Given the description of an element on the screen output the (x, y) to click on. 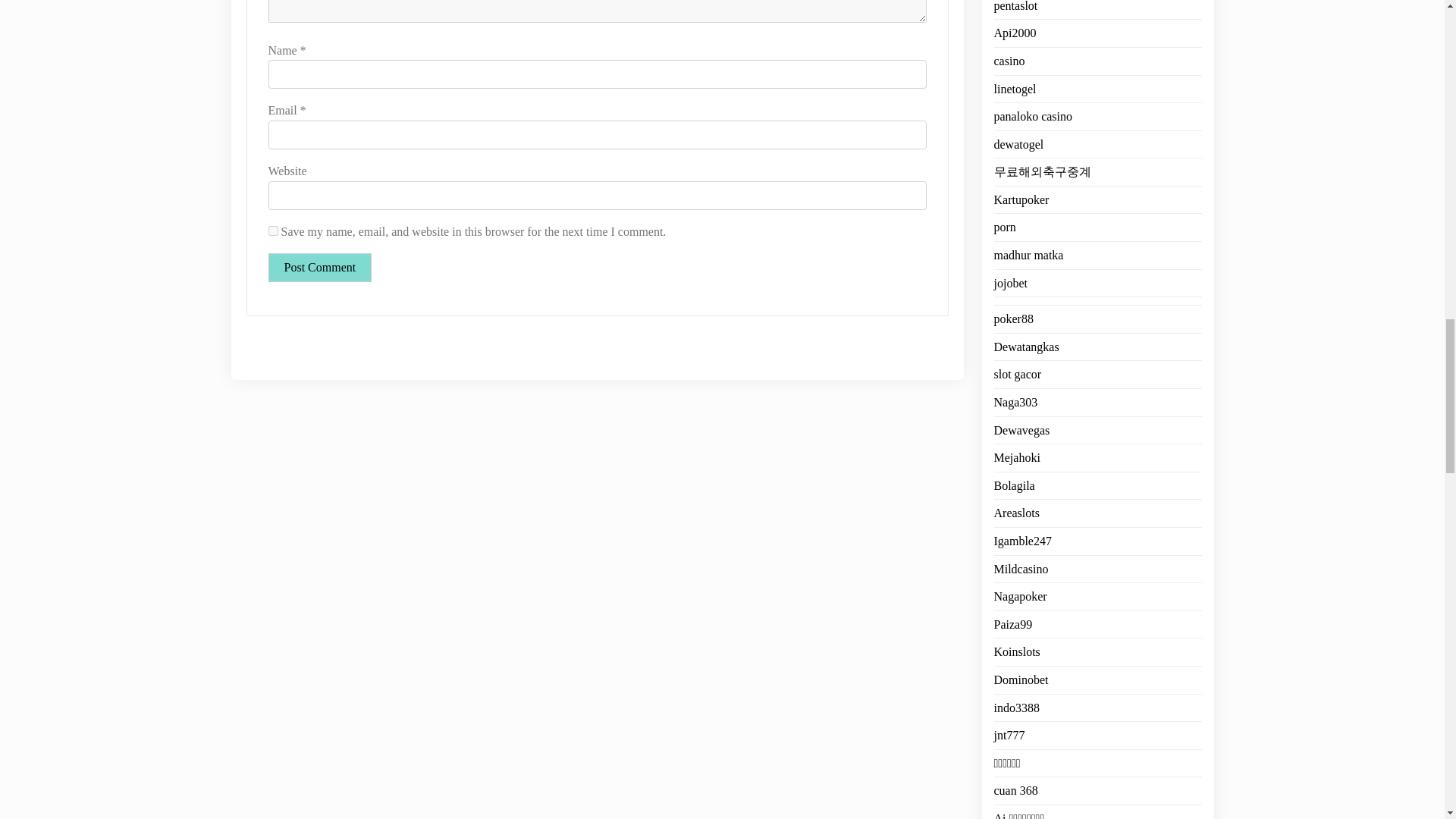
yes (272, 230)
Post Comment (319, 267)
Post Comment (319, 267)
